Given the description of an element on the screen output the (x, y) to click on. 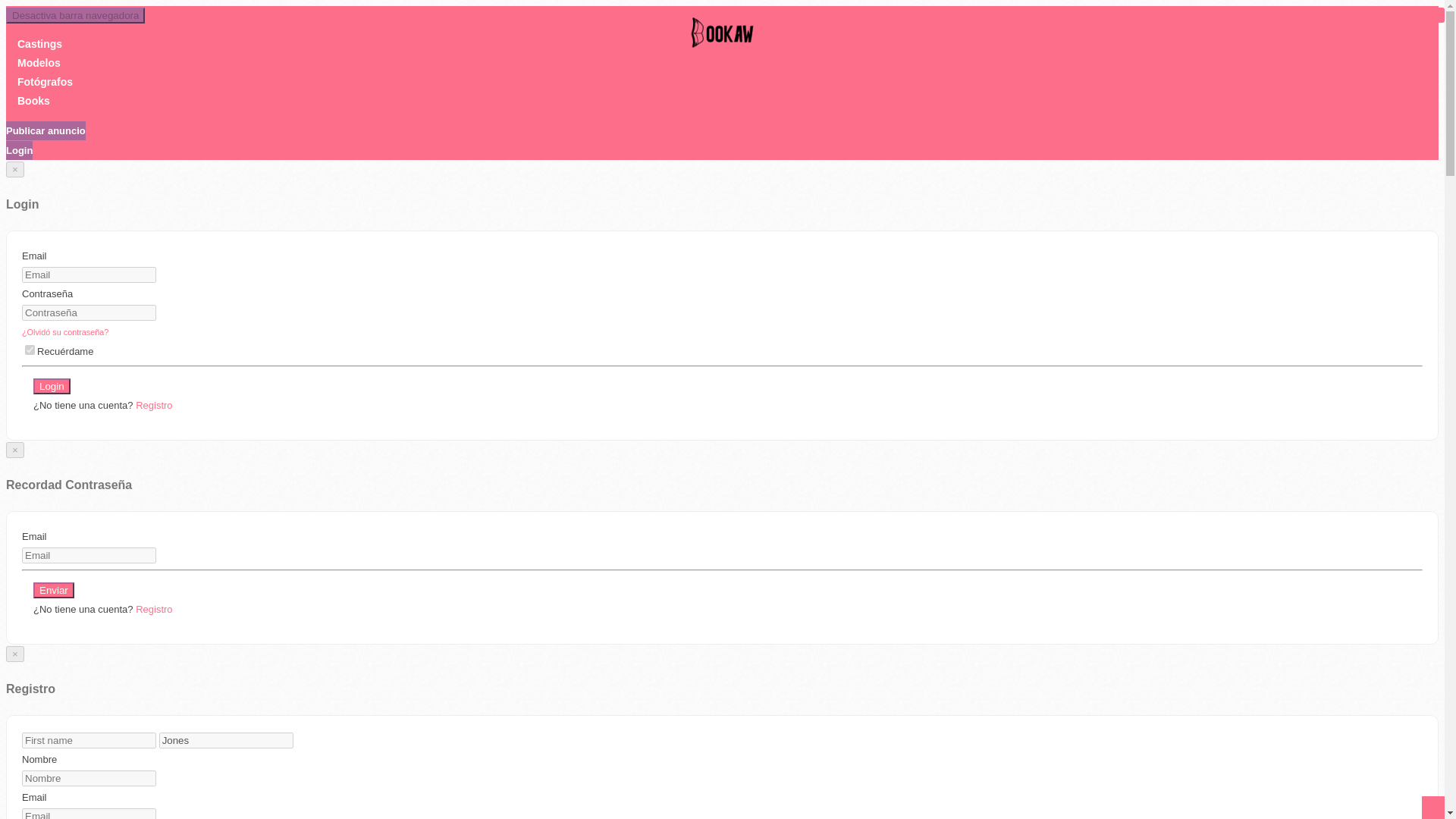
Books (33, 101)
Enviar (53, 590)
Desactiva barra navegadora (74, 15)
Jones (226, 740)
Registro (153, 405)
Bookaw - Mercadillo de instagramers! (722, 39)
Login (51, 385)
Modelos (39, 62)
Registro (153, 609)
Publicar anuncio (45, 130)
on (29, 349)
Login (18, 149)
Castings (39, 43)
